Given the description of an element on the screen output the (x, y) to click on. 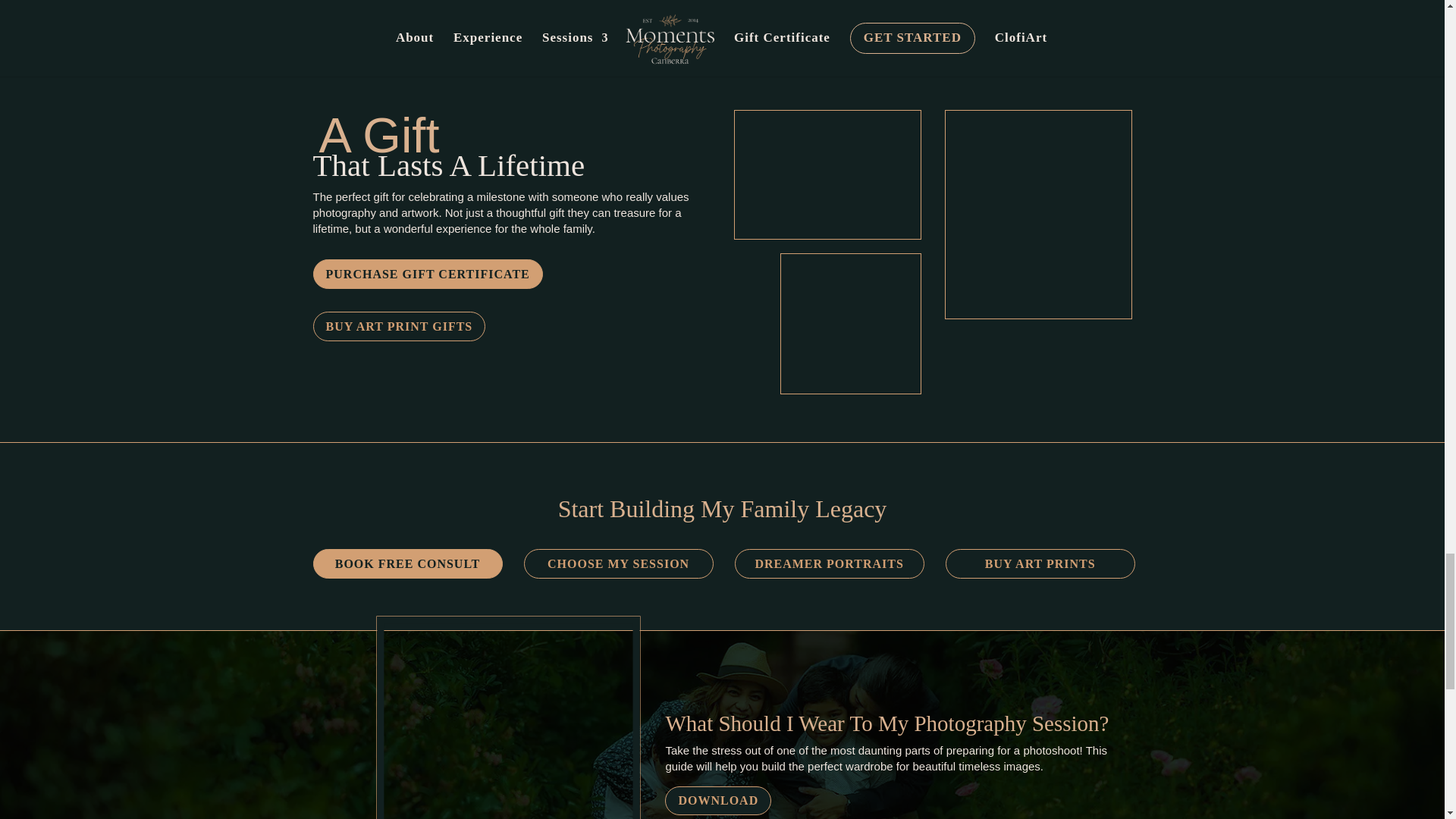
Natural family photos in Canberra (494, 721)
BUY ART PRINT GIFTS (398, 326)
PURCHASE GIFT CERTIFICATE (427, 274)
DREAMER PORTRAITS (829, 563)
CHOOSE MY SESSION (618, 563)
Moments Photography Canberra Brand Icon Gold (1353, 439)
BOOK FREE CONSULT (407, 563)
Professional newborn photography in Canberra (1038, 214)
Family ArtworkFloral Heart Watercolor Artwork (850, 323)
Canberra Family Photos (828, 174)
